Given the description of an element on the screen output the (x, y) to click on. 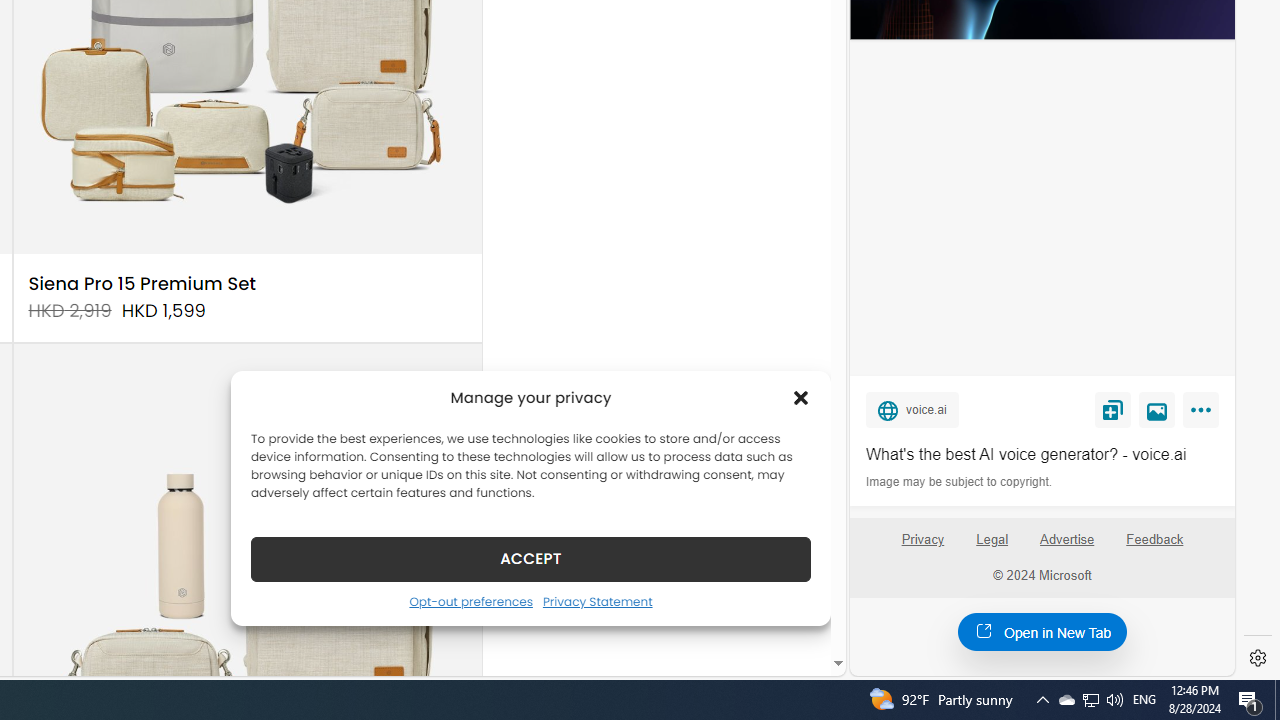
Feedback (1155, 539)
Advertise (1067, 547)
View image (1157, 409)
Legal (991, 539)
Privacy (922, 539)
Open in New Tab (1042, 631)
Class: cmplz-close (801, 397)
ACCEPT (530, 558)
Save (1112, 409)
Privacy Statement (596, 601)
Opt-out preferences (470, 601)
More (1204, 413)
Image may be subject to copyright. (959, 481)
